Given the description of an element on the screen output the (x, y) to click on. 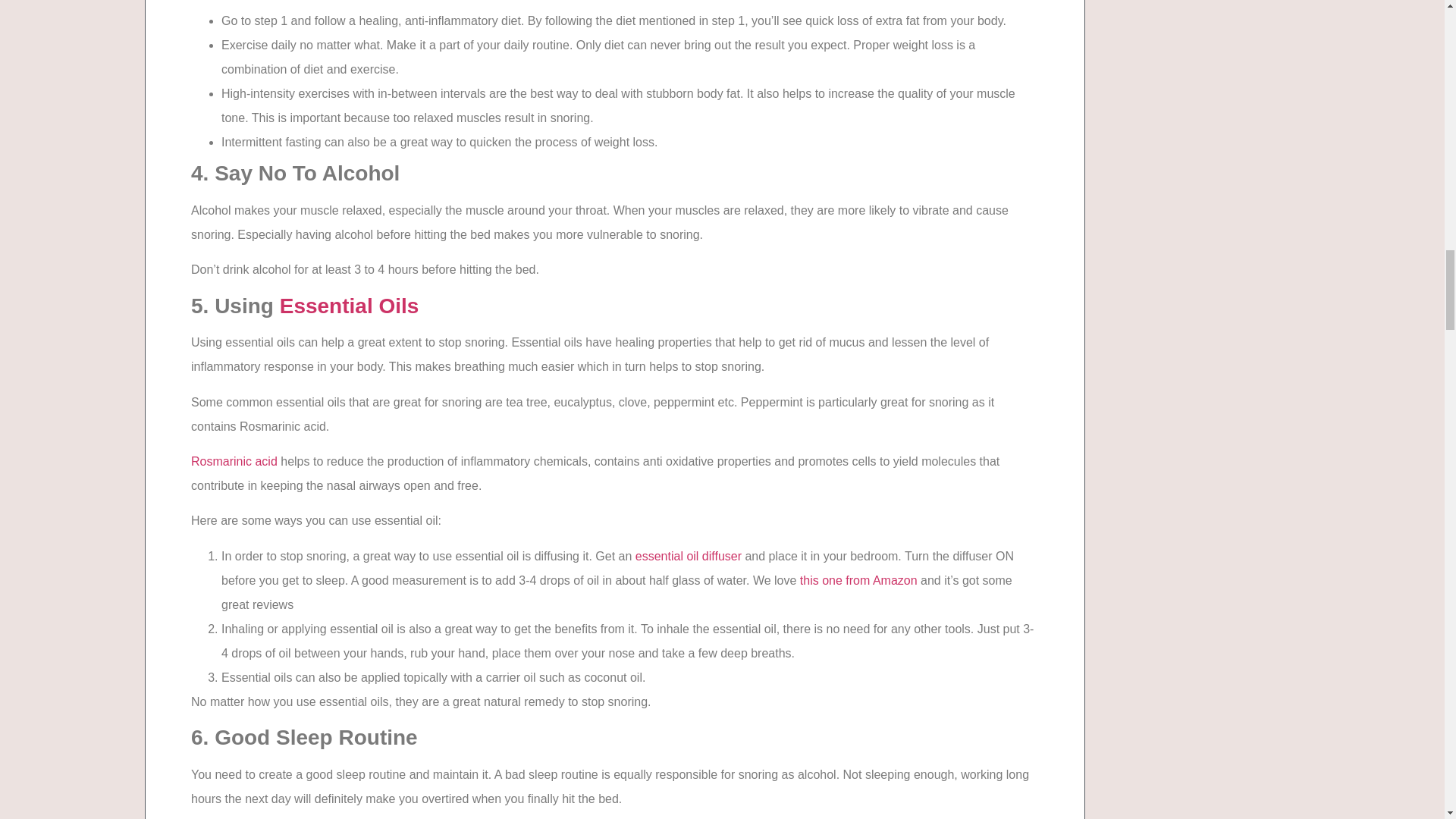
essential oil diffuser (687, 555)
this one from Amazon (858, 580)
Rosmarinic acid (234, 461)
Essential Oils (349, 305)
